Given the description of an element on the screen output the (x, y) to click on. 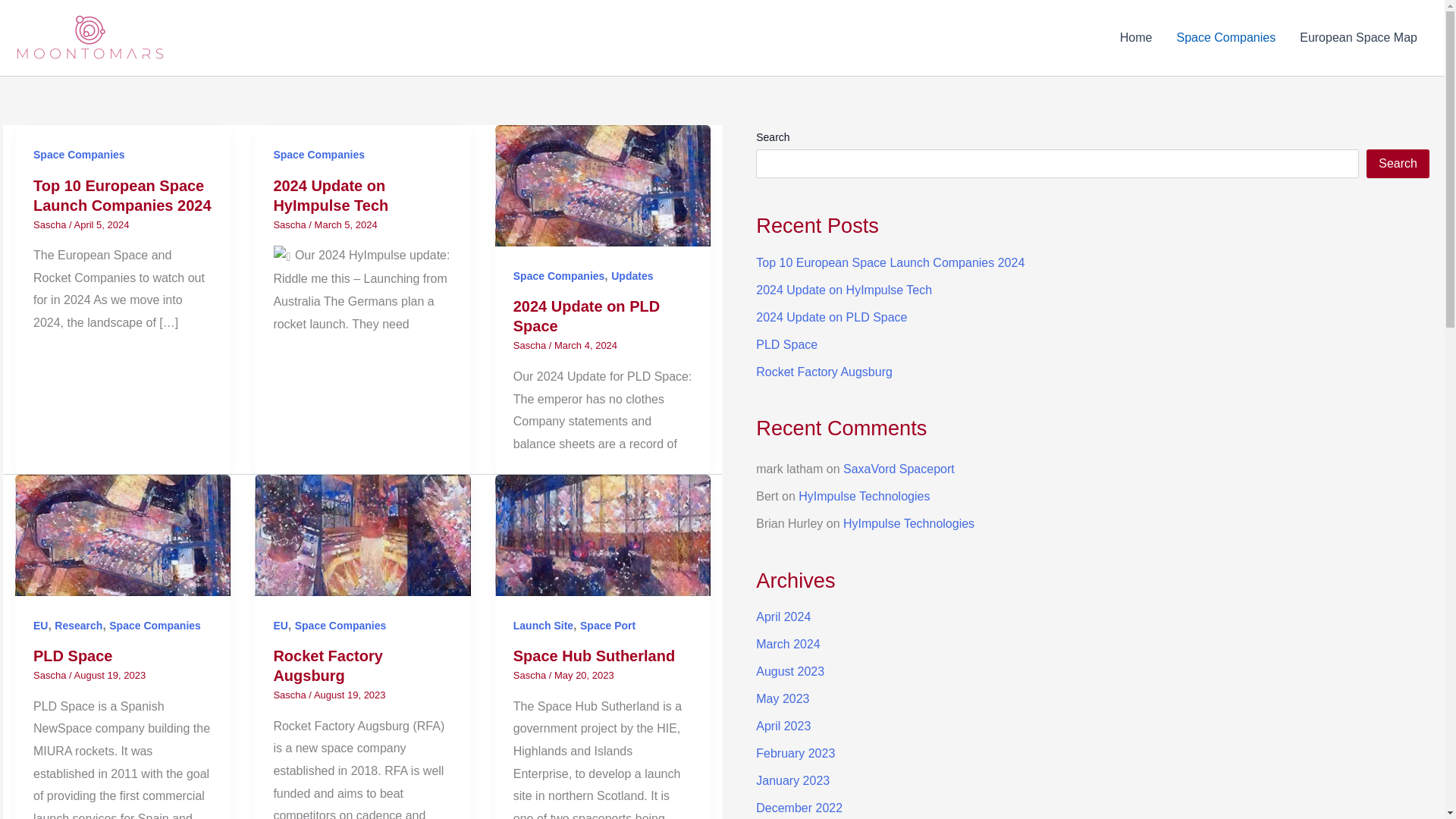
Space Port (606, 625)
PLD Space (72, 655)
EU (279, 625)
Space Companies (341, 625)
Space Companies (319, 154)
Space Hub Sutherland (594, 655)
Updates (631, 275)
View all posts by Sascha (50, 224)
Sascha (530, 345)
View all posts by Sascha (290, 695)
Sascha (50, 224)
View all posts by Sascha (50, 674)
Space Companies (154, 625)
European Space Map (1358, 37)
Top 10 European Space Launch Companies 2024 (122, 195)
